Given the description of an element on the screen output the (x, y) to click on. 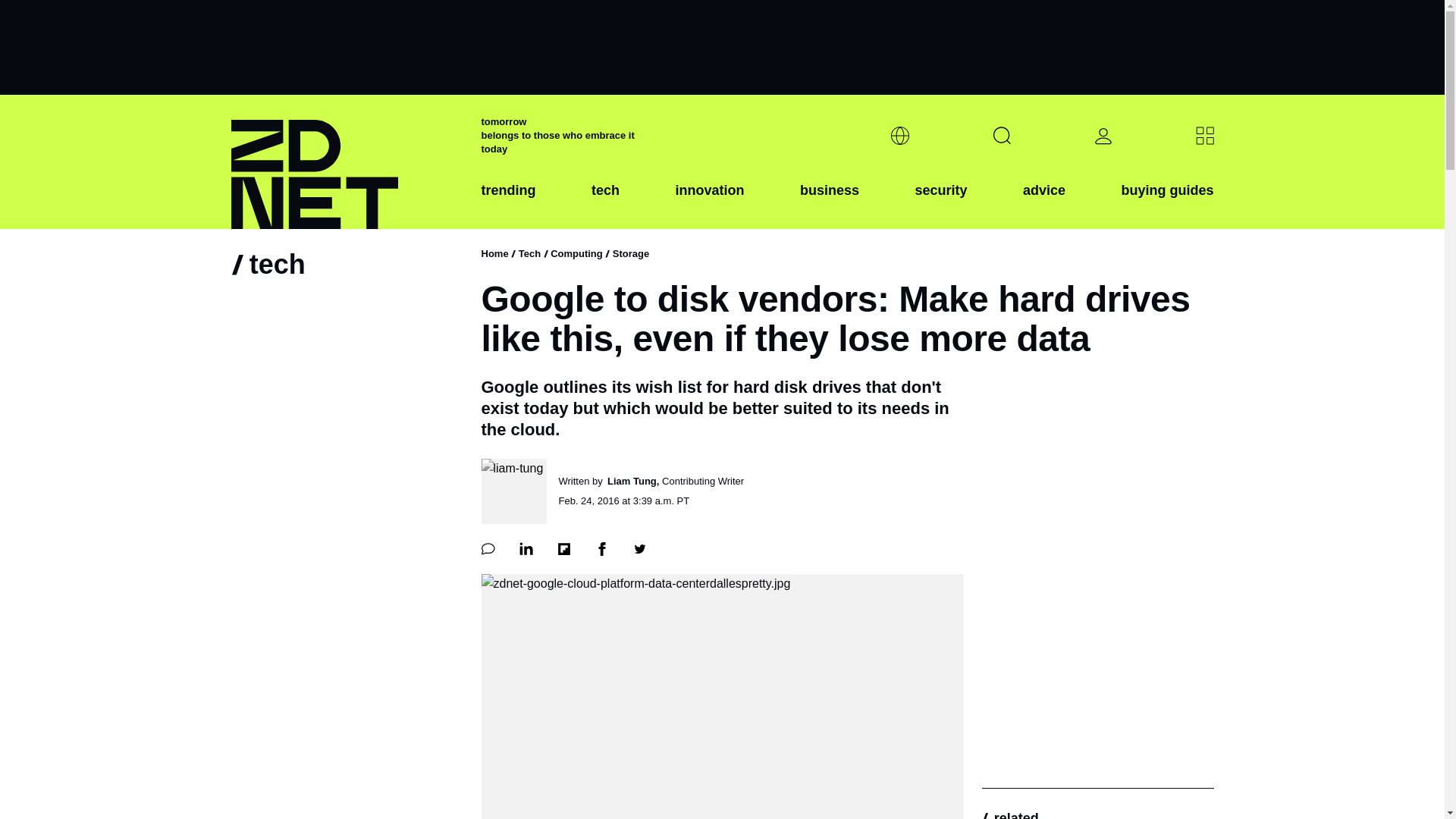
ZDNET (346, 162)
trending (507, 202)
